Given the description of an element on the screen output the (x, y) to click on. 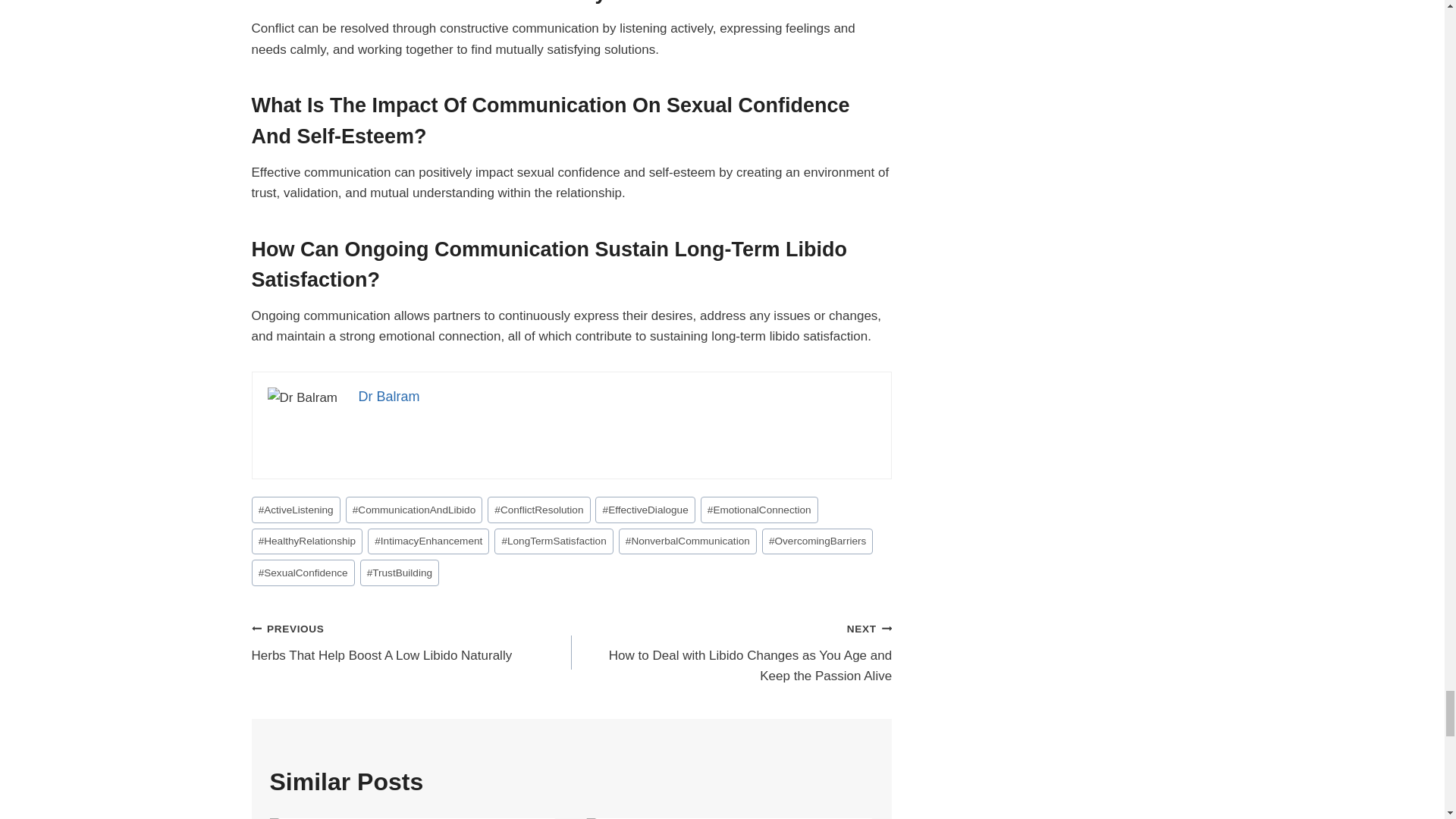
OvercomingBarriers (817, 541)
EmotionalConnection (759, 509)
NonverbalCommunication (687, 541)
IntimacyEnhancement (428, 541)
ActiveListening (295, 509)
HealthyRelationship (306, 541)
LongTermSatisfaction (553, 541)
ConflictResolution (538, 509)
CommunicationAndLibido (414, 509)
EffectiveDialogue (644, 509)
TrustBuilding (399, 572)
SexualConfidence (303, 572)
